Given the description of an element on the screen output the (x, y) to click on. 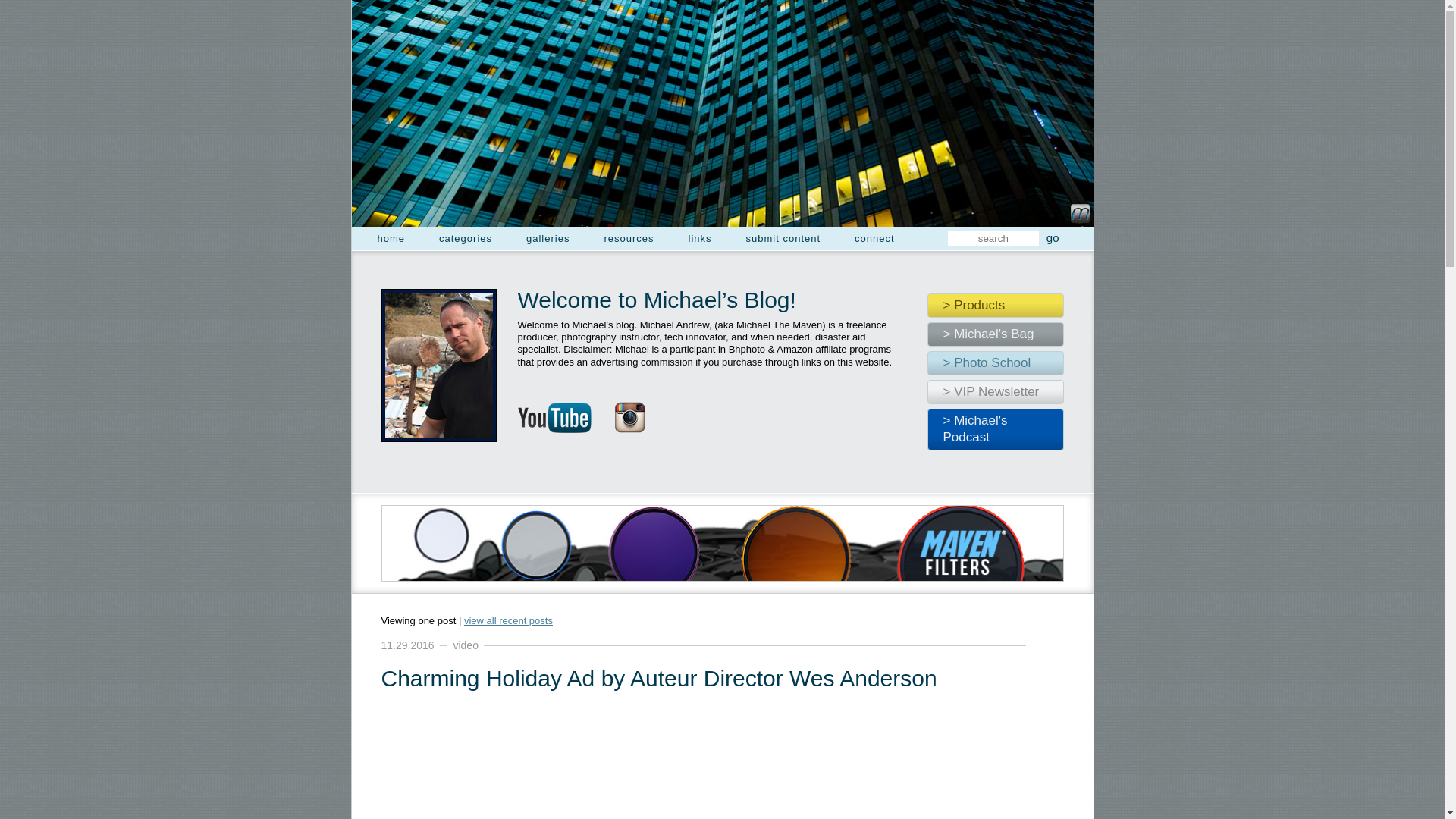
categories (465, 238)
home (391, 238)
resources (628, 238)
galleries (547, 238)
